Given the description of an element on the screen output the (x, y) to click on. 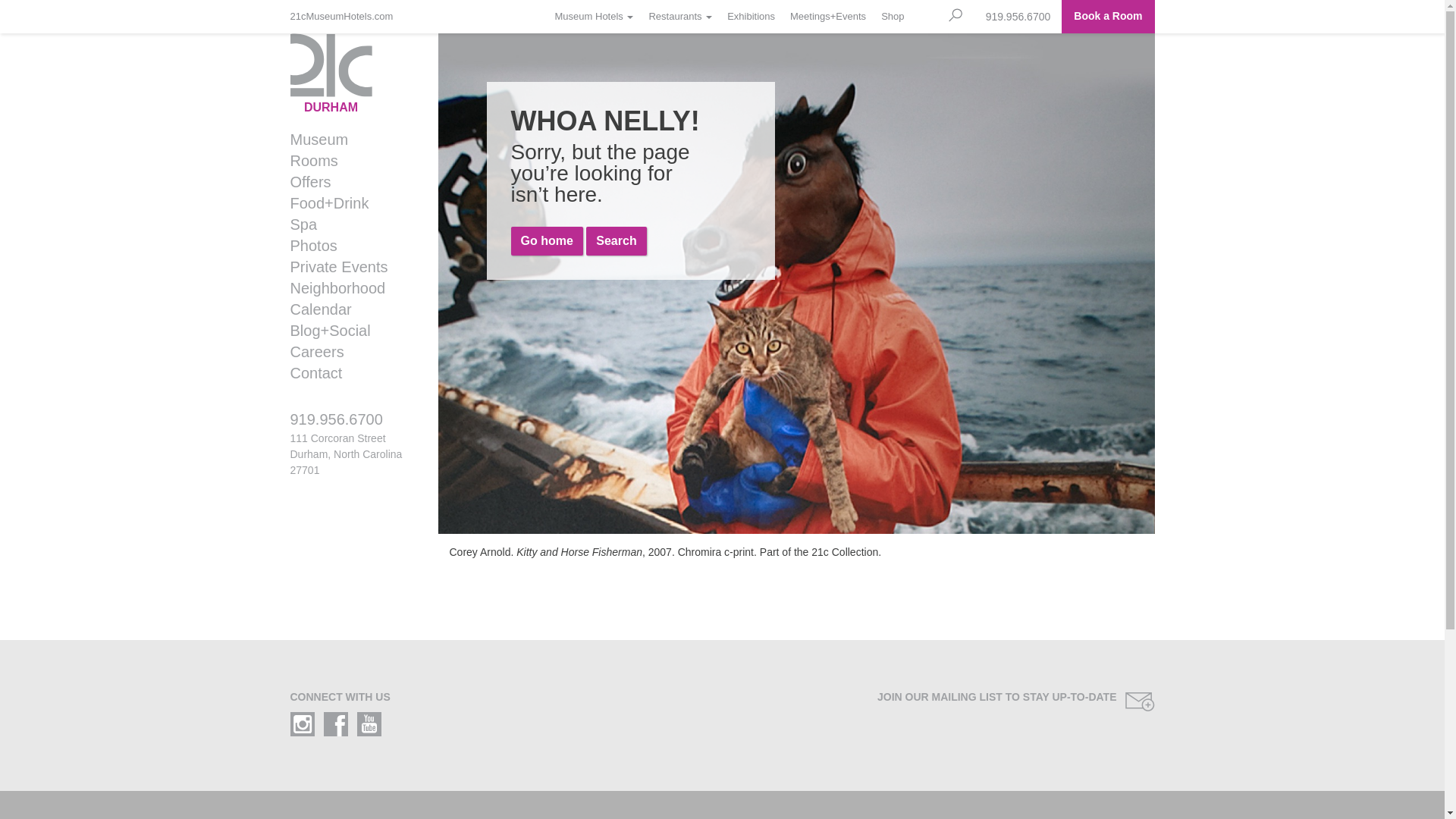
21cMuseumHotels.com Element type: text (344, 16)
Food+Drink Element type: text (347, 202)
JOIN OUR MAILING LIST TO STAY UP-TO-DATE Element type: text (944, 701)
Go home Element type: text (547, 240)
Contact Element type: text (347, 372)
Neighborhood Element type: text (347, 287)
111 Corcoran Street
Durham, North Carolina 27701 Element type: text (345, 454)
Museum Hotels Element type: text (594, 16)
919.956.6700 Element type: text (1018, 16)
Book a Room Element type: text (1107, 16)
Offers Element type: text (347, 181)
Museum Element type: text (347, 139)
Rooms Element type: text (347, 160)
Search Element type: text (616, 240)
Restaurants Element type: text (679, 16)
Calendar Element type: text (347, 309)
Private Events Element type: text (347, 266)
Careers Element type: text (347, 351)
Blog+Social Element type: text (347, 330)
Spa Element type: text (347, 224)
919.956.6700 Element type: text (351, 425)
Meetings+Events Element type: text (827, 16)
Shop Element type: text (892, 16)
Exhibitions Element type: text (750, 16)
Photos Element type: text (347, 245)
DURHAM Element type: text (351, 73)
